Given the description of an element on the screen output the (x, y) to click on. 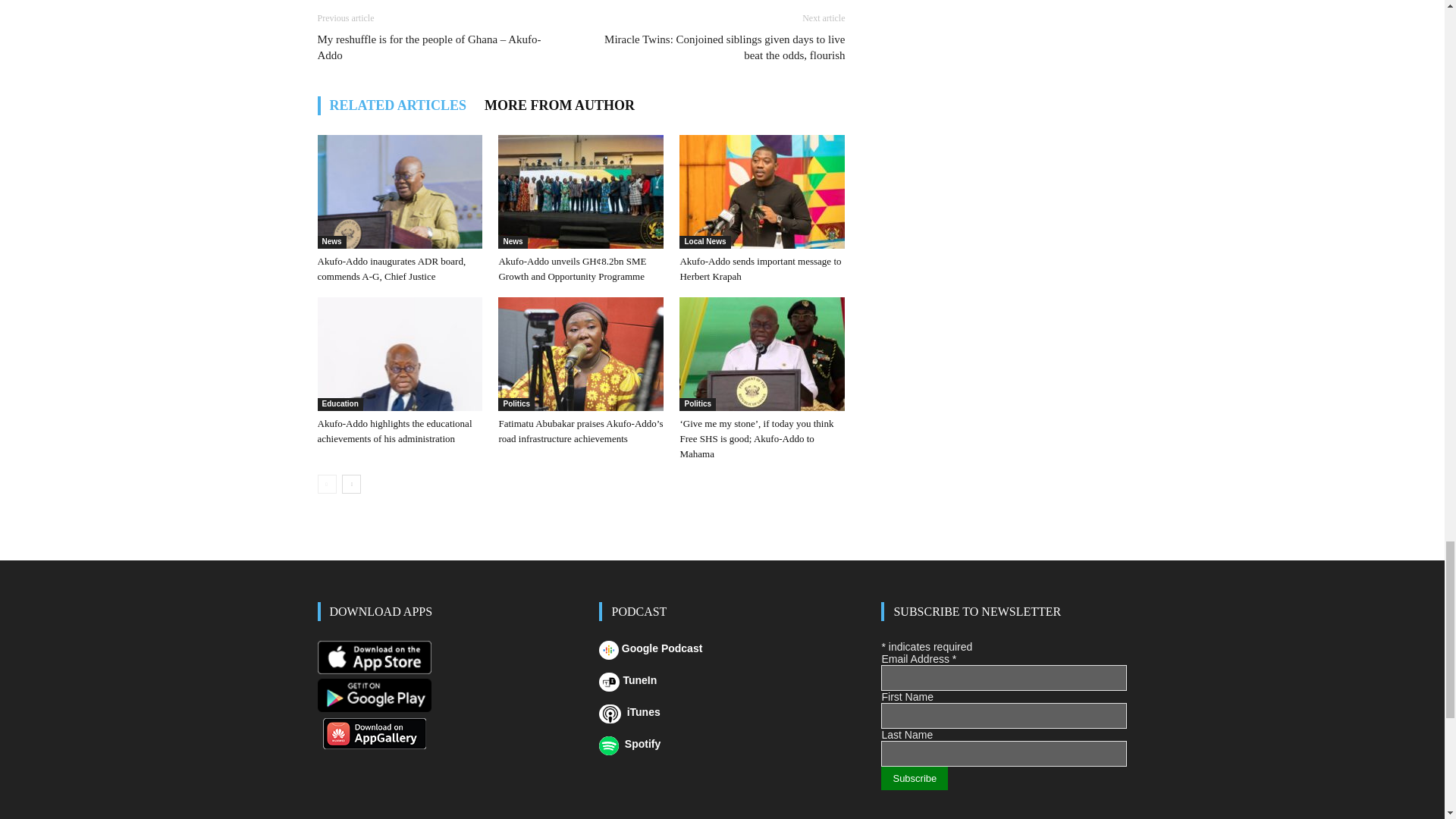
Subscribe (913, 778)
